Given the description of an element on the screen output the (x, y) to click on. 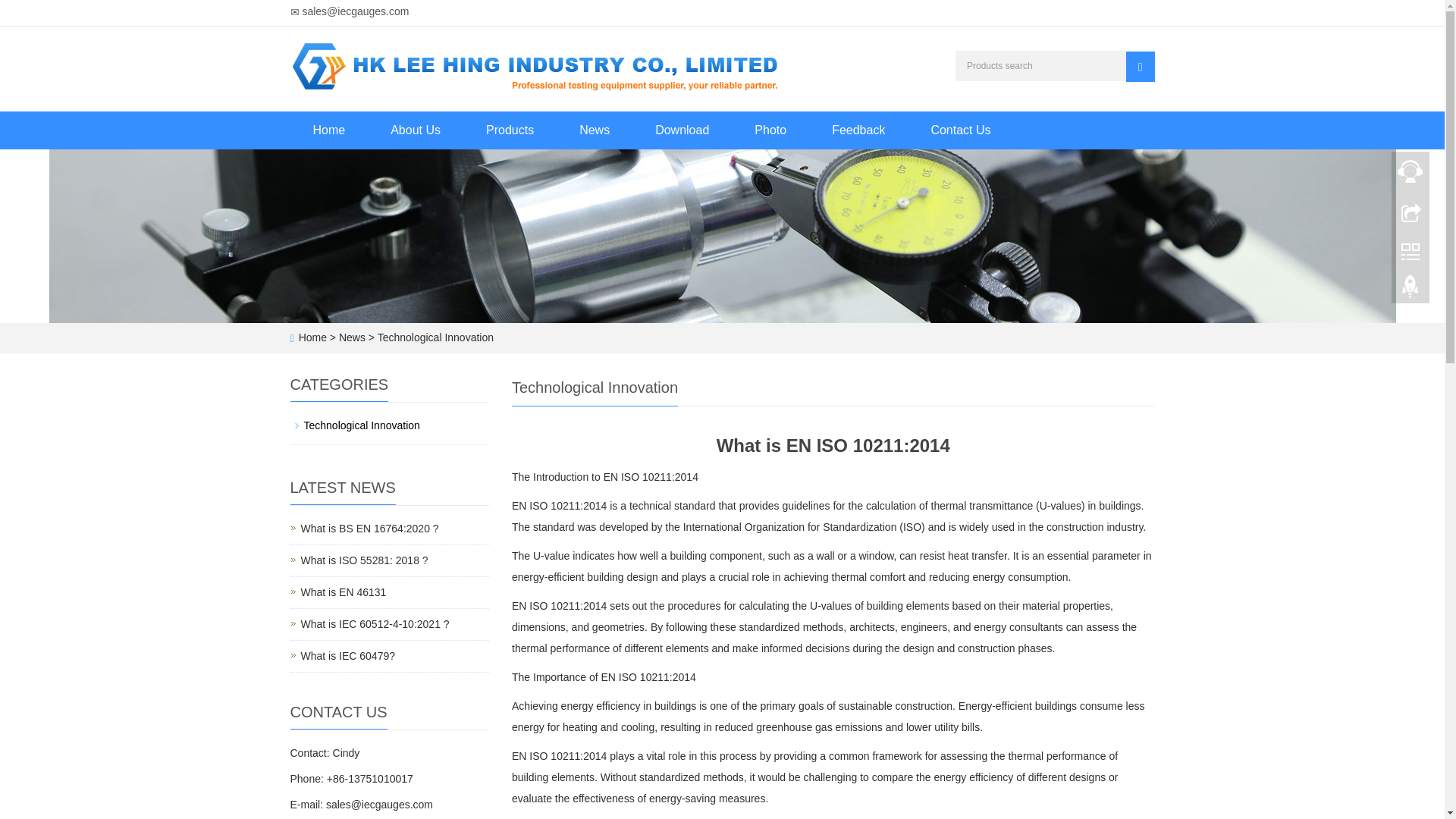
Photo (770, 130)
What is IEC 60479? (346, 655)
News (593, 130)
Products search (1139, 66)
About Us (415, 130)
Products (509, 130)
What is EN 46131 (342, 592)
Home (328, 130)
Download (368, 528)
Top (373, 623)
